Given the description of an element on the screen output the (x, y) to click on. 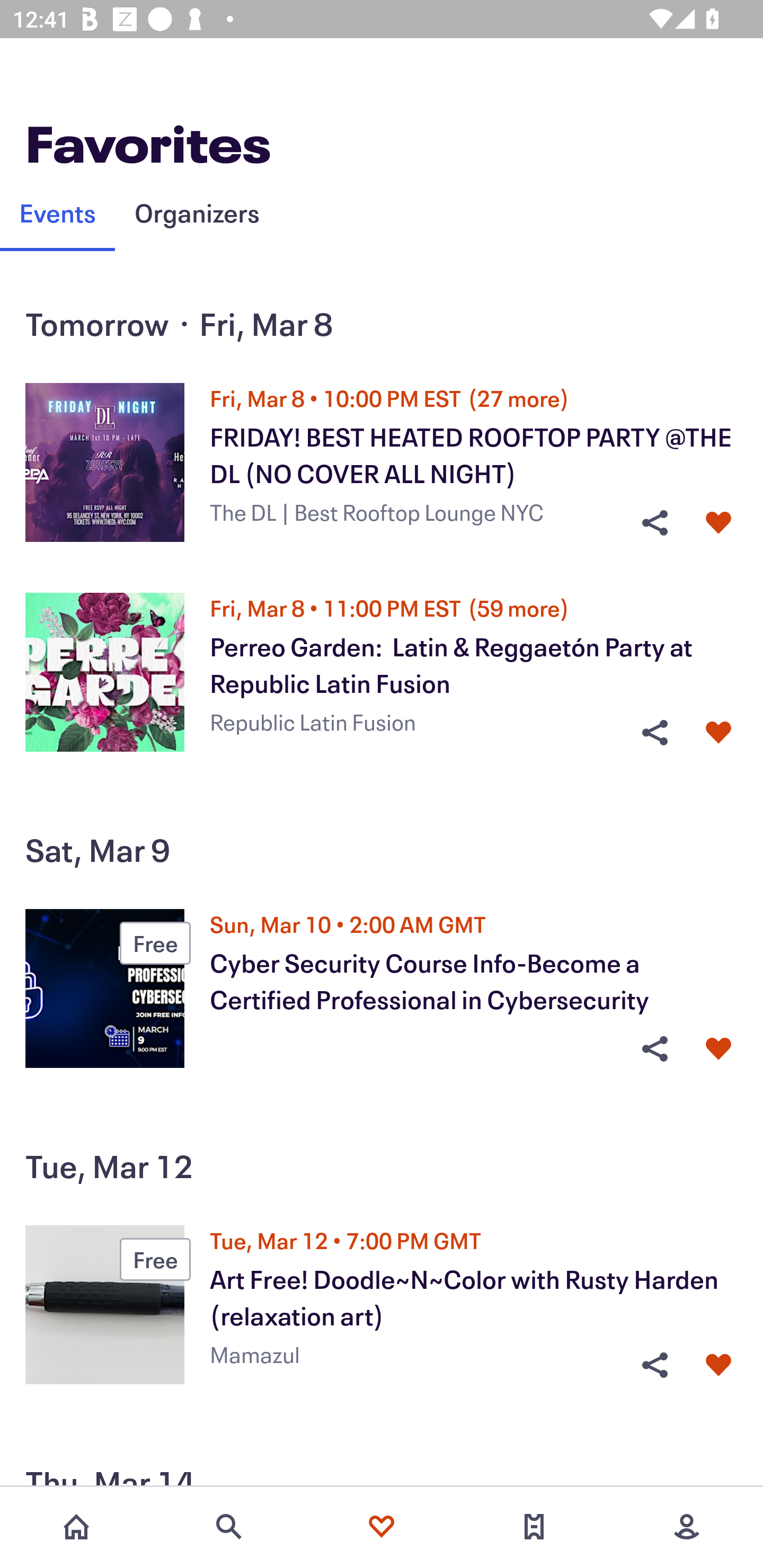
Organizers (196, 212)
Share Event (654, 522)
Unlike event (718, 522)
Share Event (654, 732)
Unlike event (718, 732)
Share Event (654, 1048)
Unlike event (718, 1048)
Share Event (654, 1364)
Unlike event (718, 1364)
Home (76, 1526)
Search events (228, 1526)
Favorites (381, 1526)
Tickets (533, 1526)
More (686, 1526)
